Given the description of an element on the screen output the (x, y) to click on. 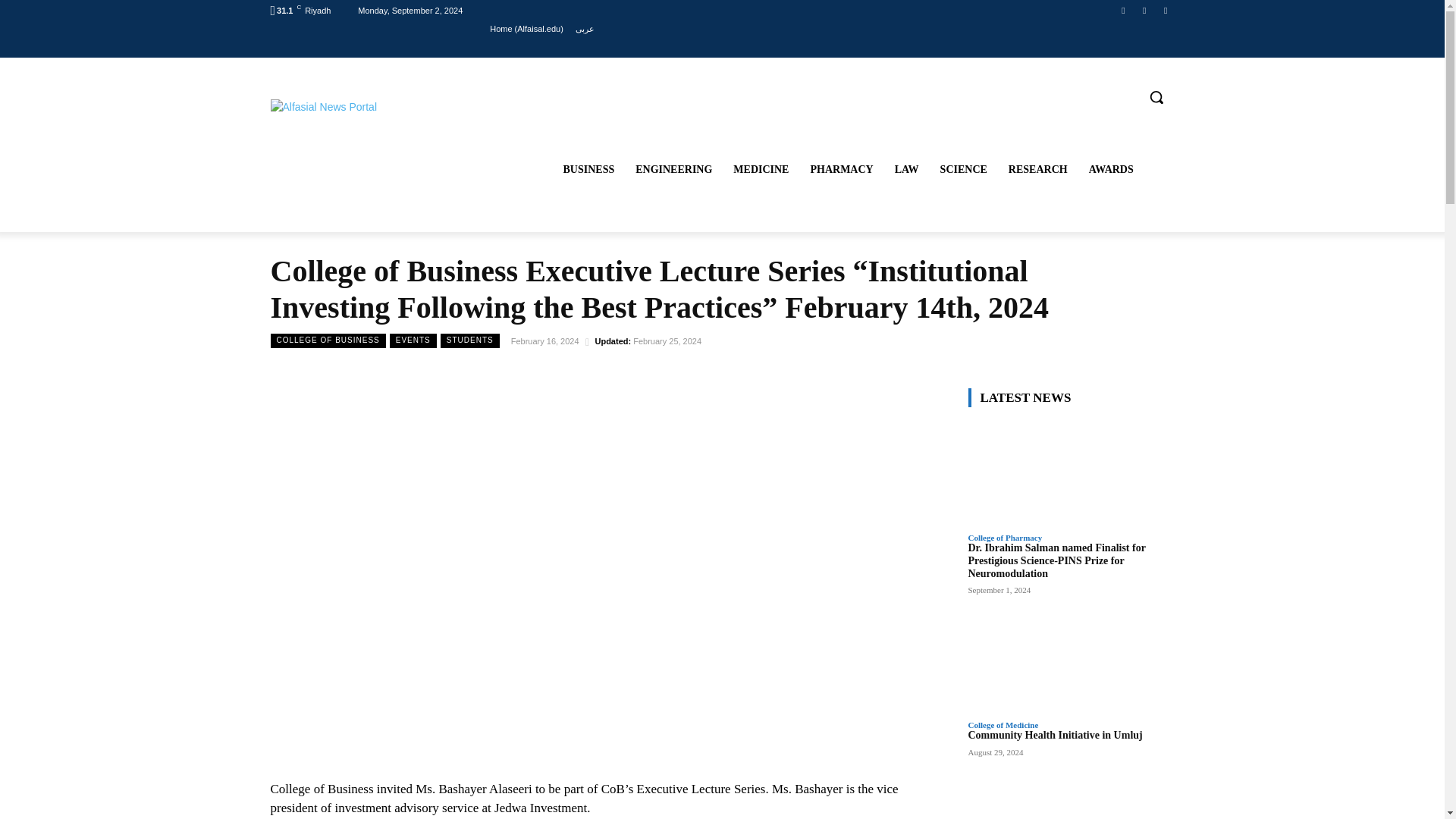
PHARMACY (841, 169)
RESEARCH (1037, 169)
MEDICINE (760, 169)
Youtube (1165, 9)
EVENTS (413, 340)
AWARDS (1111, 169)
Alfasial News Portal (362, 133)
Twitter (1123, 9)
BUSINESS (587, 169)
STUDENTS (470, 340)
